Given the description of an element on the screen output the (x, y) to click on. 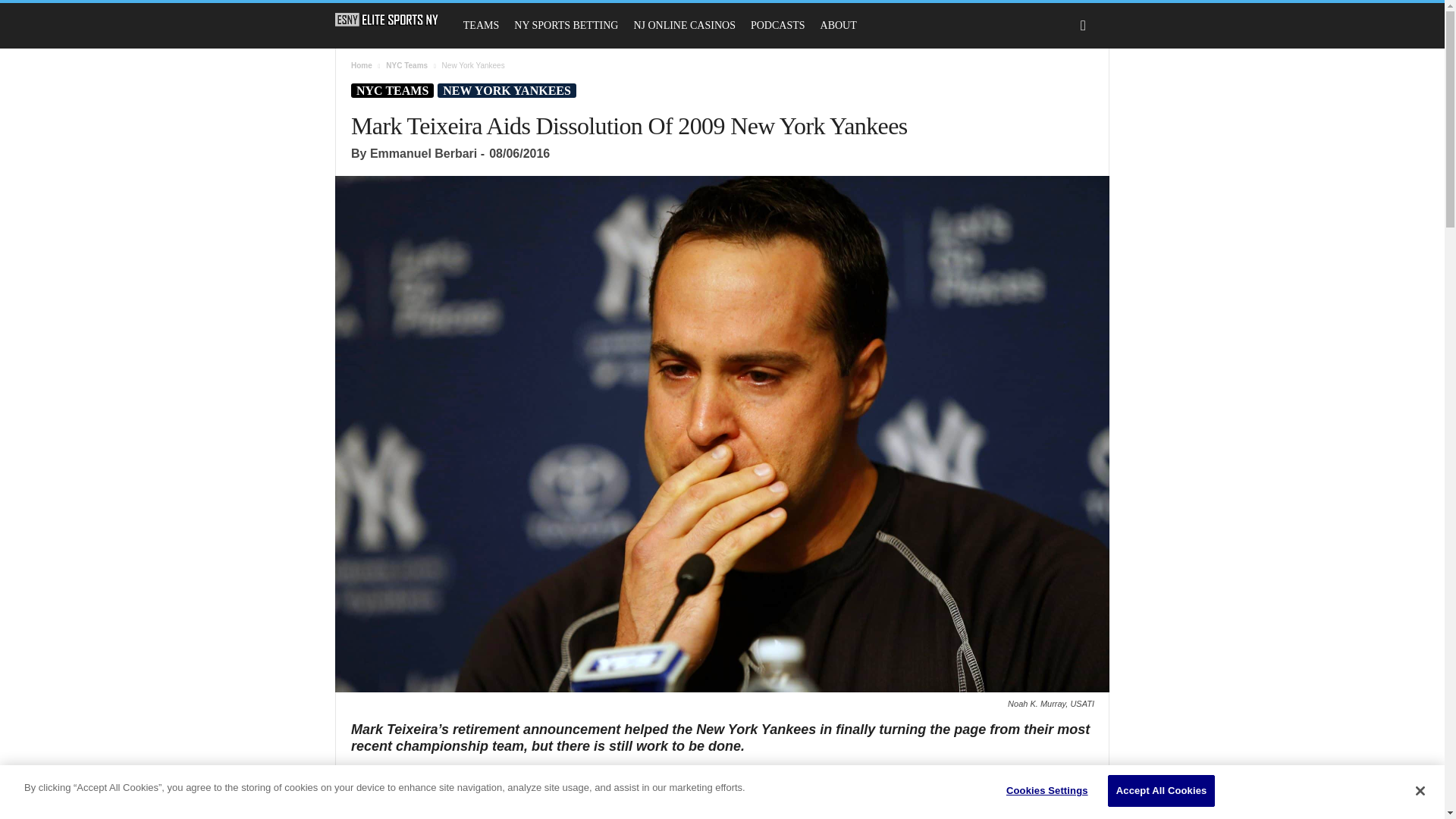
View all posts in NYC Teams (406, 65)
TEAMS (480, 25)
Elite Sports NY (394, 19)
Elite Sports NY (386, 19)
